Given the description of an element on the screen output the (x, y) to click on. 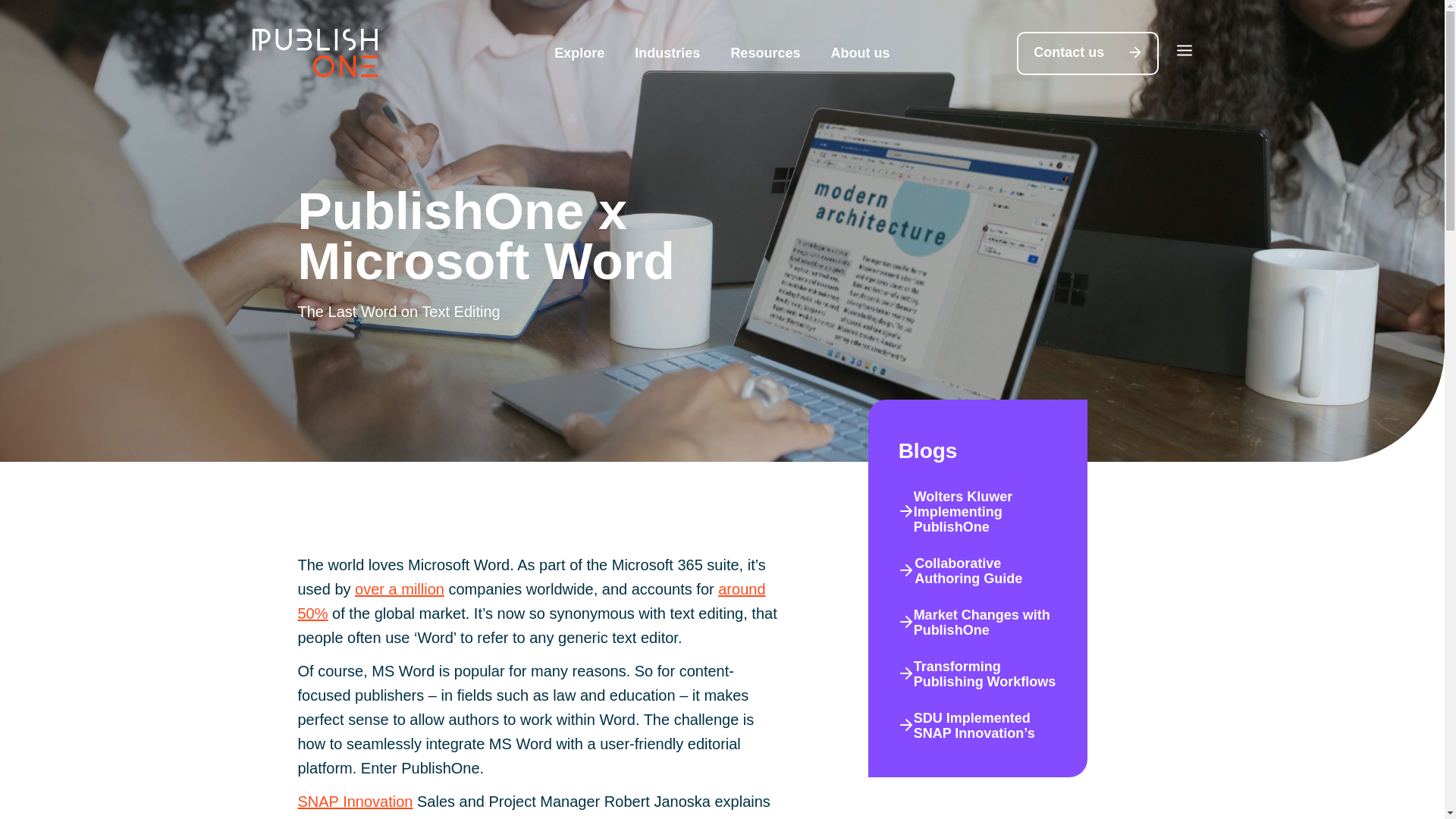
Resources (764, 52)
over a million (399, 588)
SNAP Innovation (354, 801)
About us (859, 52)
publishone-logo-diap (314, 52)
Industries (667, 52)
Explore (579, 52)
Contact us (1087, 53)
